Given the description of an element on the screen output the (x, y) to click on. 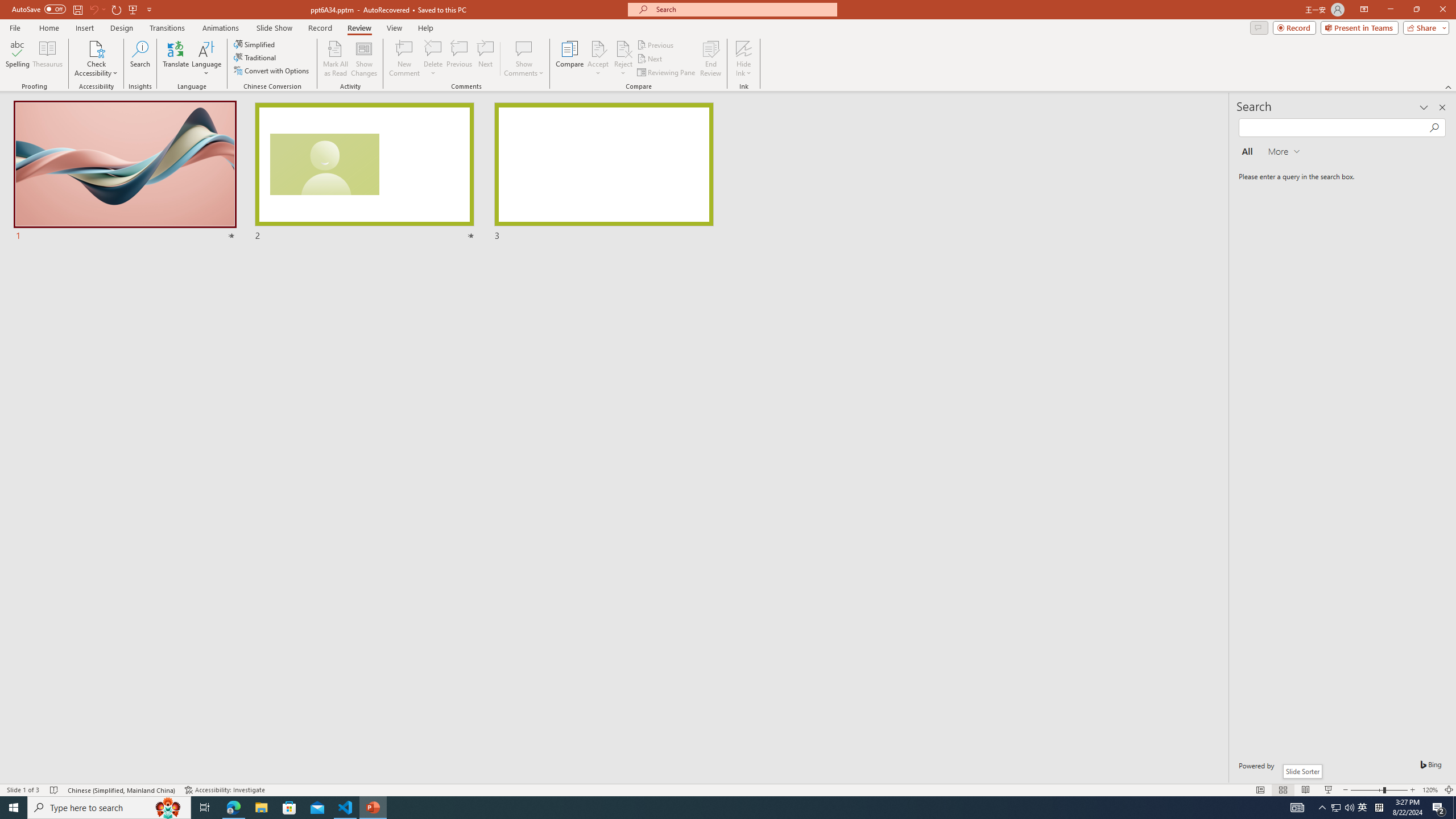
Hide Ink (743, 48)
Quick Access Toolbar (82, 9)
View (395, 28)
Present in Teams (1359, 27)
Transitions (167, 28)
Translate (175, 58)
Animations (220, 28)
Normal (1260, 790)
Collapse the Ribbon (1448, 86)
AutoSave (38, 9)
Class: MsoCommandBar (728, 789)
